Given the description of an element on the screen output the (x, y) to click on. 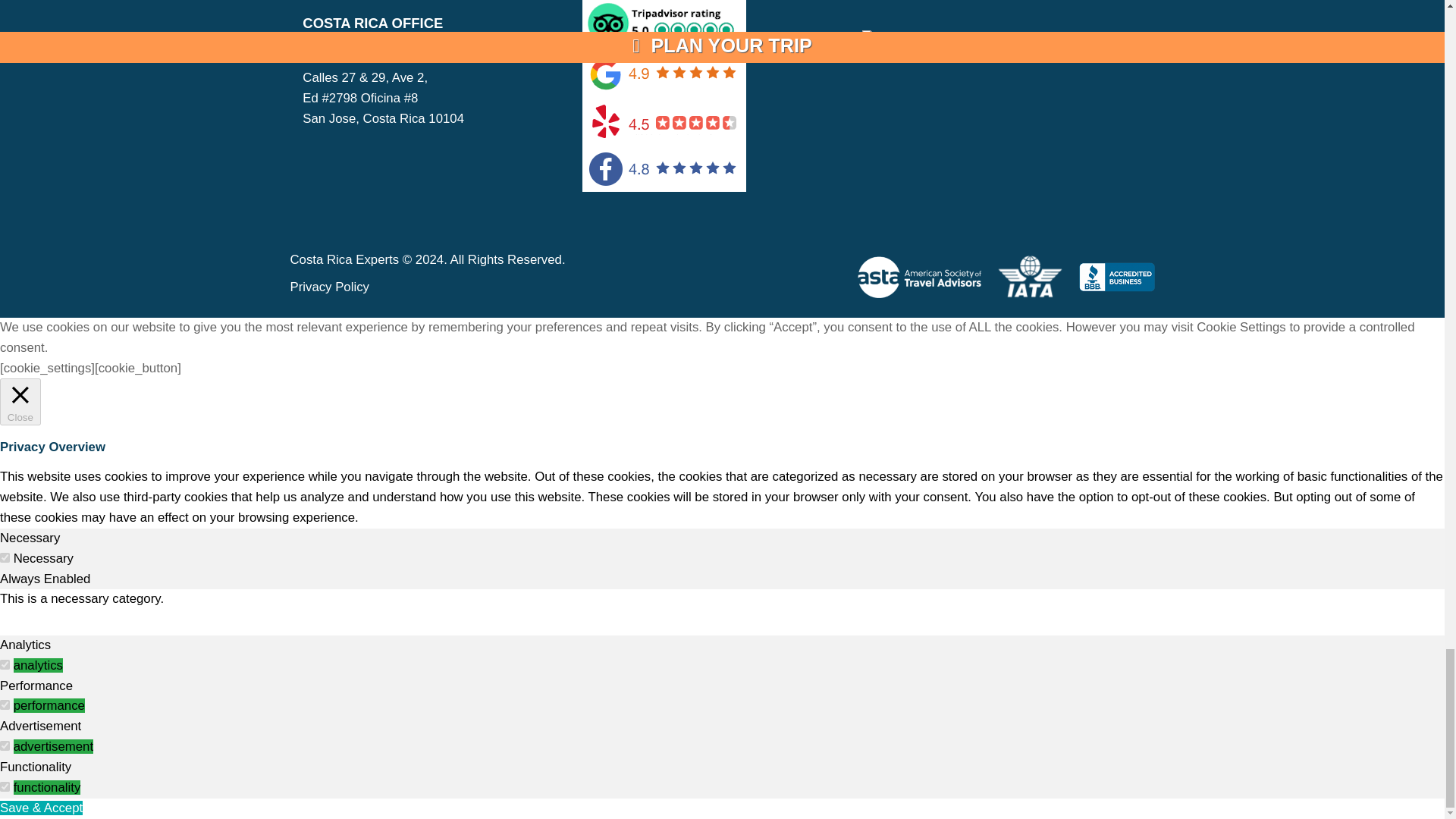
on (5, 664)
on (5, 705)
on (5, 557)
on (5, 786)
on (5, 746)
